Given the description of an element on the screen output the (x, y) to click on. 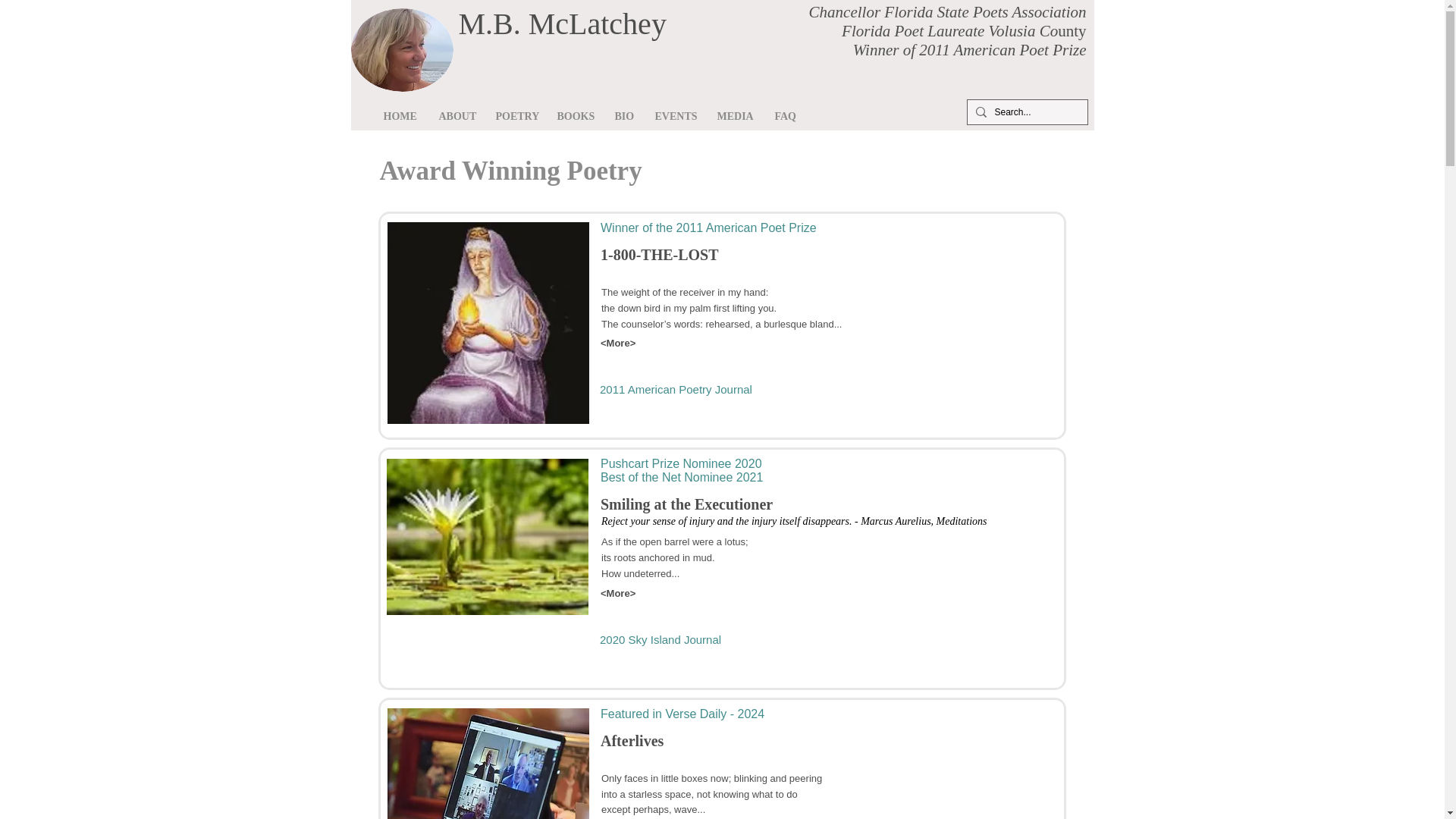
smilingattheexecutionerH.jpg (487, 536)
BOOKS (575, 116)
MEDIA (733, 116)
ABOUT (456, 116)
EVENTS (673, 116)
M.B. McLatchey (561, 23)
BIO (623, 116)
afterlives.jpg (488, 763)
HOME (398, 116)
NSB, FL.  Photo credit: Mark Andrew J. Terry, 2021 (401, 49)
